Given the description of an element on the screen output the (x, y) to click on. 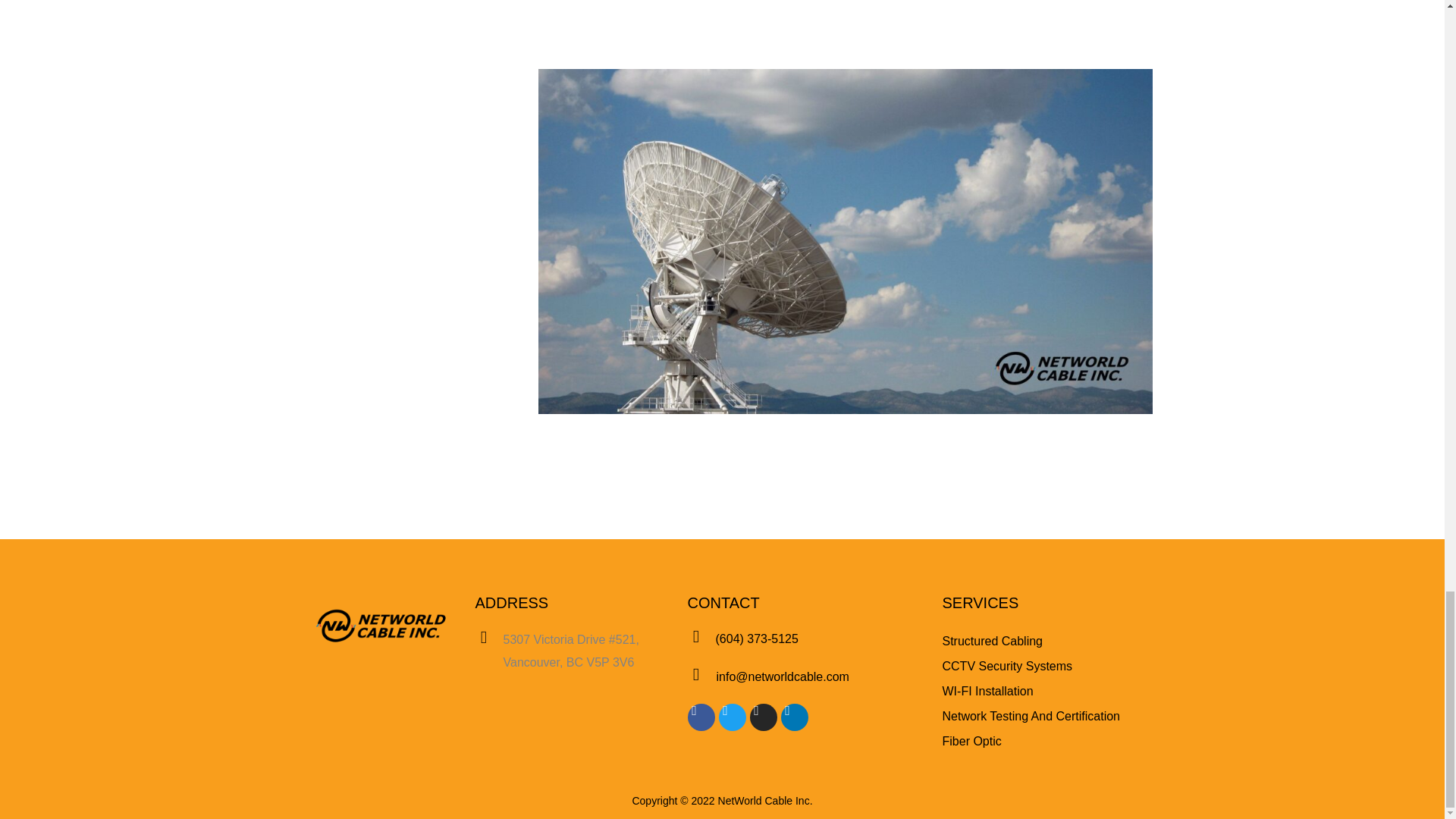
CCTV Security Systems (1006, 665)
Network Testing And Certification (1030, 715)
Twitter (732, 717)
WI-FI Installation (987, 690)
Structured Cabling (992, 640)
Instagram (762, 717)
Facebook (700, 717)
Linkedin (794, 717)
Fiber Optic (971, 740)
